Given the description of an element on the screen output the (x, y) to click on. 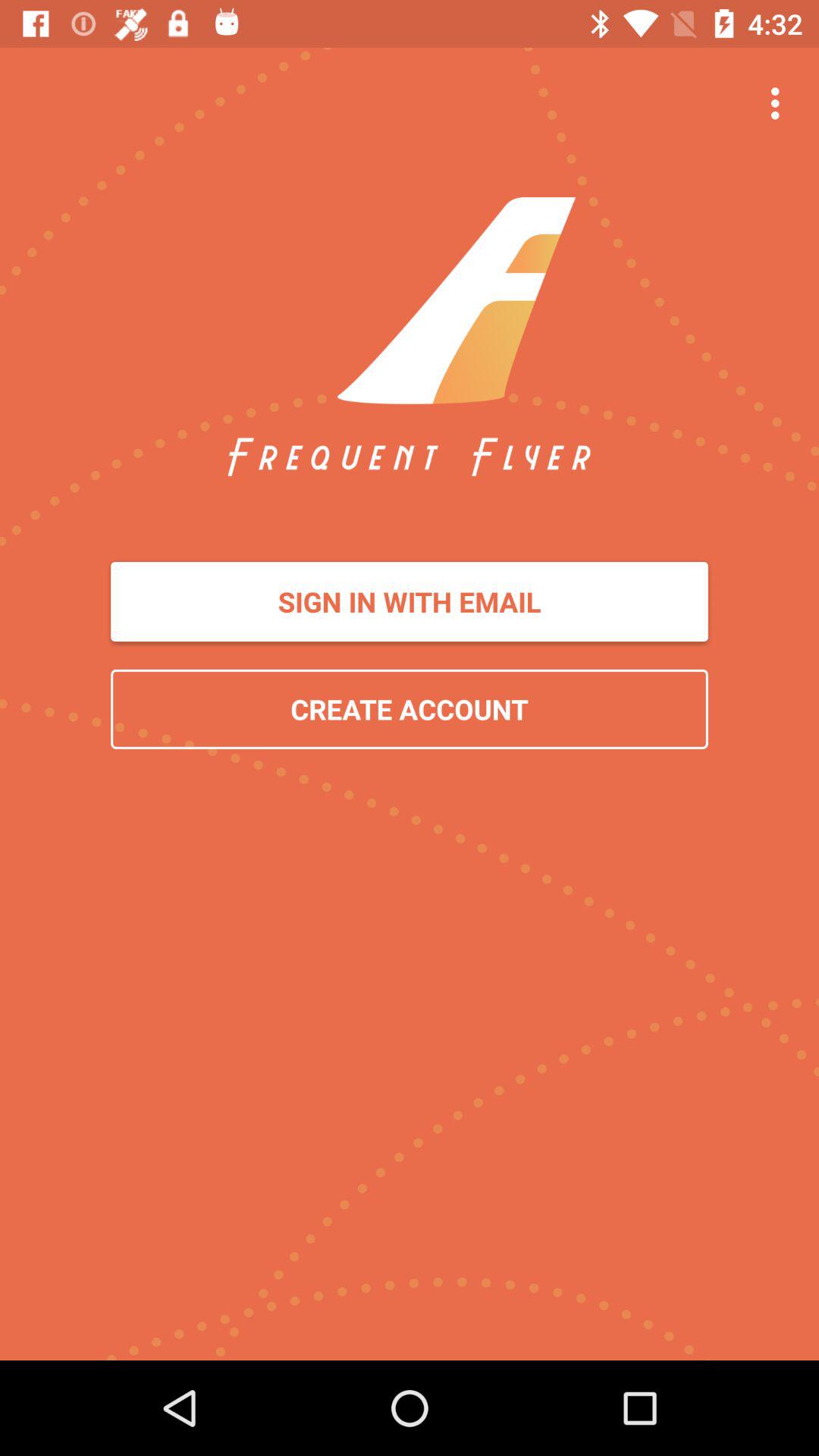
press the item below the sign in with item (409, 709)
